Given the description of an element on the screen output the (x, y) to click on. 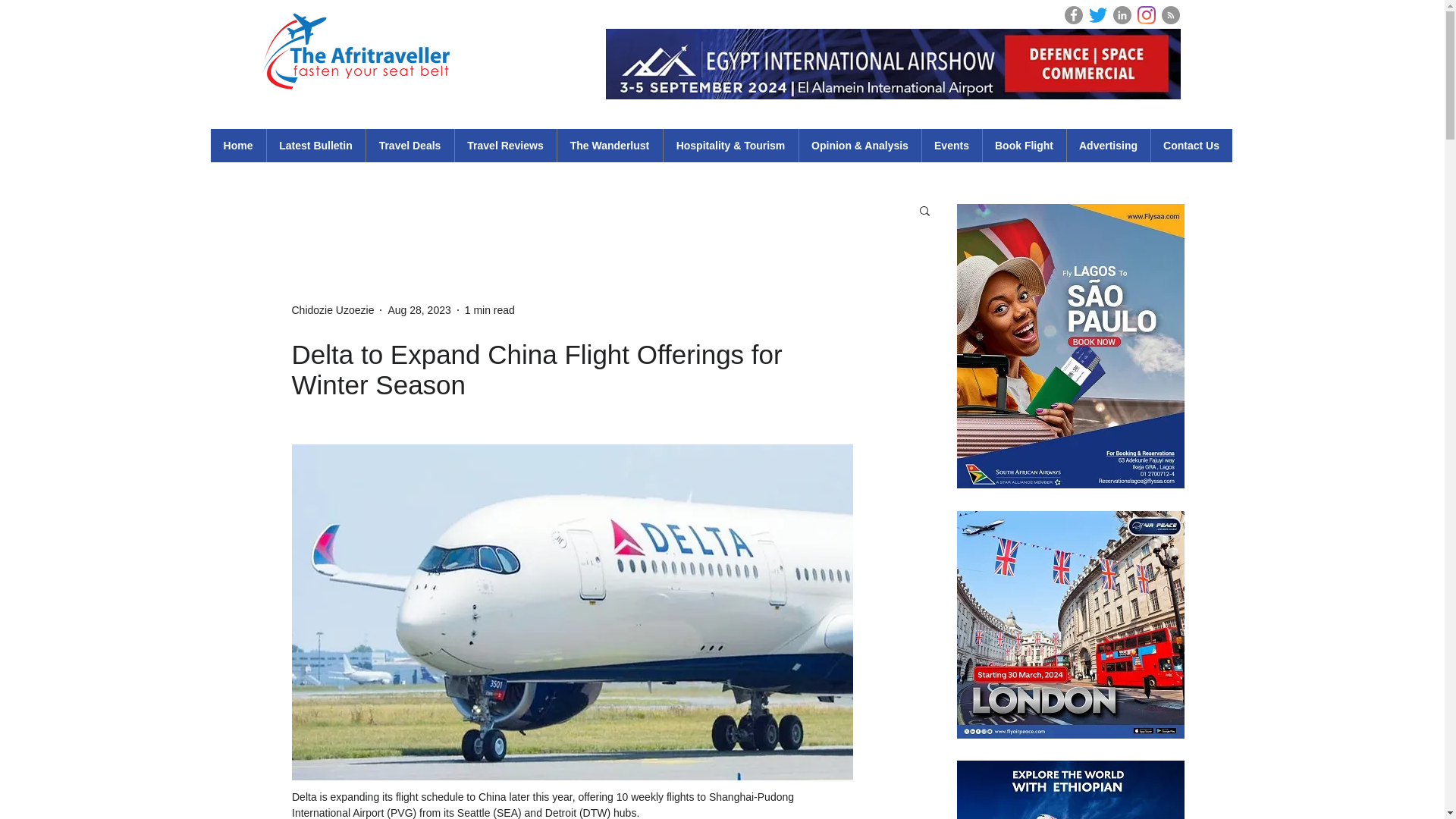
Home (238, 145)
Travel Deals (409, 145)
Advertising (1107, 145)
The Wanderlust (609, 145)
Events (950, 145)
Chidozie Uzoezie (332, 309)
Latest Bulletin (314, 145)
1 min read (489, 309)
Login (1201, 13)
Contact Us (1190, 145)
